Given the description of an element on the screen output the (x, y) to click on. 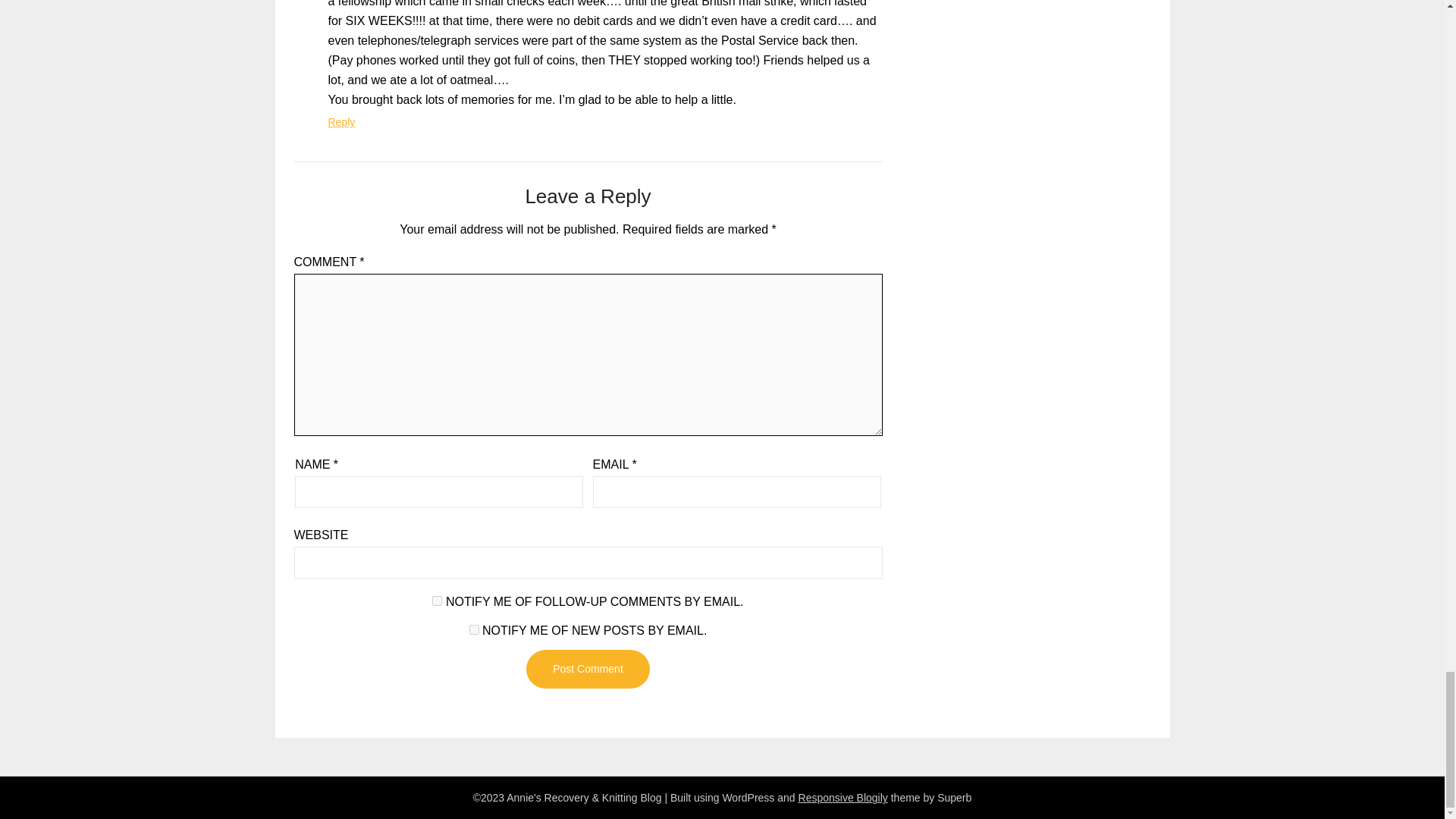
subscribe (473, 629)
Post Comment (587, 669)
subscribe (437, 601)
